Given the description of an element on the screen output the (x, y) to click on. 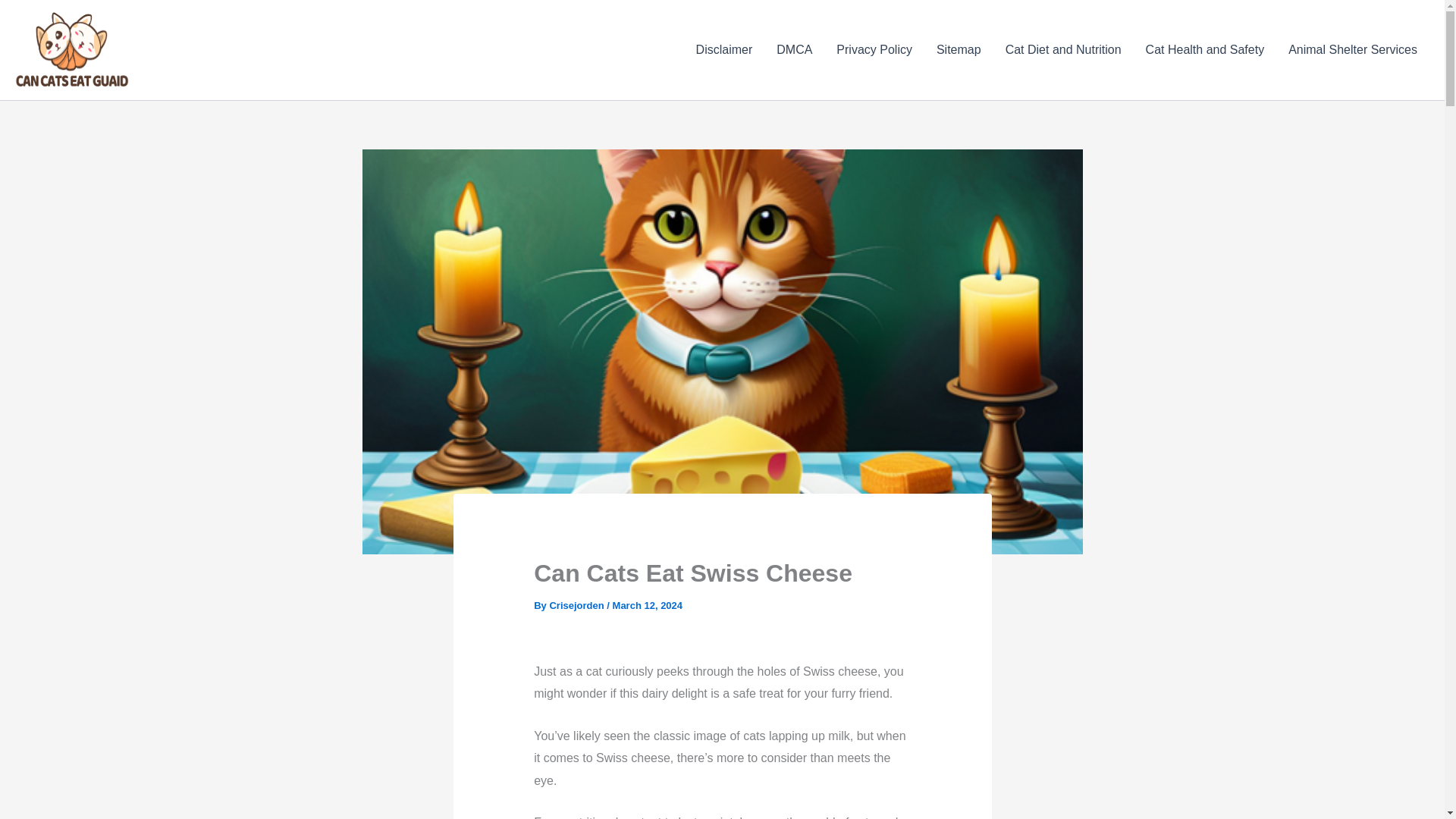
Sitemap (958, 49)
DMCA (794, 49)
Cat Health and Safety (1205, 49)
Crisejorden (577, 604)
Privacy Policy (874, 49)
Cat Diet and Nutrition (1063, 49)
View all posts by Crisejorden (577, 604)
Disclaimer (724, 49)
Animal Shelter Services (1352, 49)
